Given the description of an element on the screen output the (x, y) to click on. 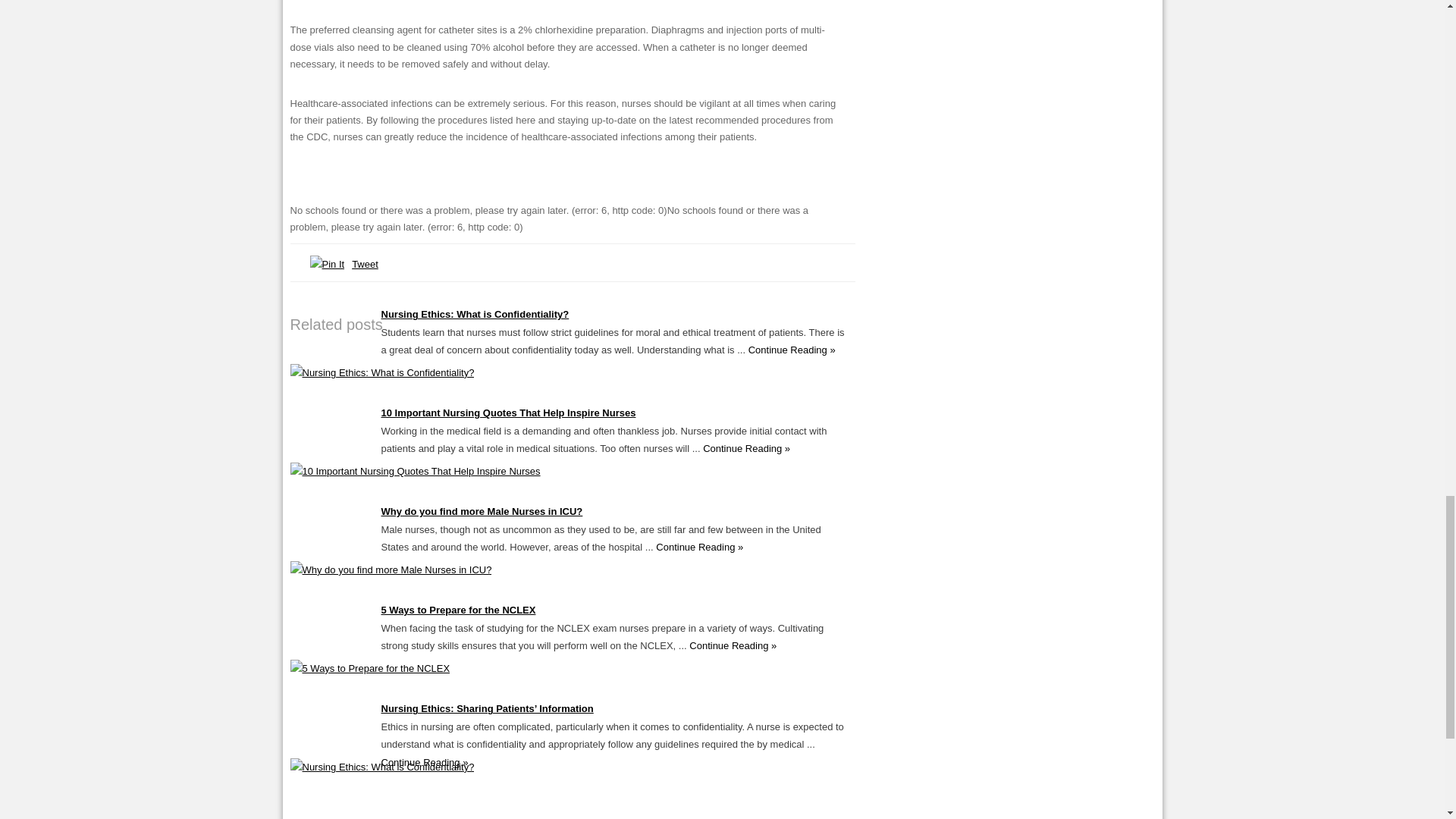
Nursing Ethics: What is Confidentiality? (474, 314)
Tweet (365, 264)
Pin It (325, 263)
Nursing Ethics: What is Confidentiality? (381, 372)
Why do you find more Male Nurses in ICU? (390, 569)
10 Important Nursing Quotes That Help Inspire Nurses (414, 471)
5 Ways to Prepare for the NCLEX (369, 668)
